Given the description of an element on the screen output the (x, y) to click on. 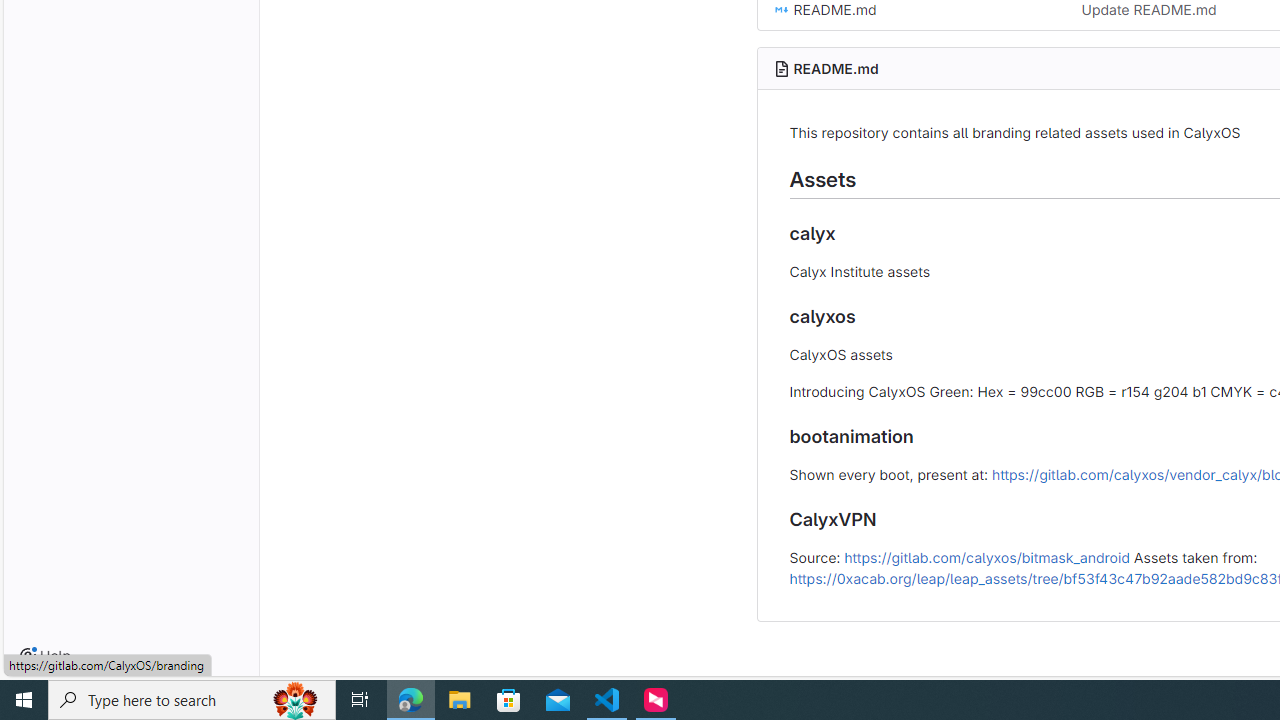
README.md (836, 68)
Class: s16 position-relative file-icon (781, 10)
https://gitlab.com/calyxos/bitmask_android (986, 556)
